Given the description of an element on the screen output the (x, y) to click on. 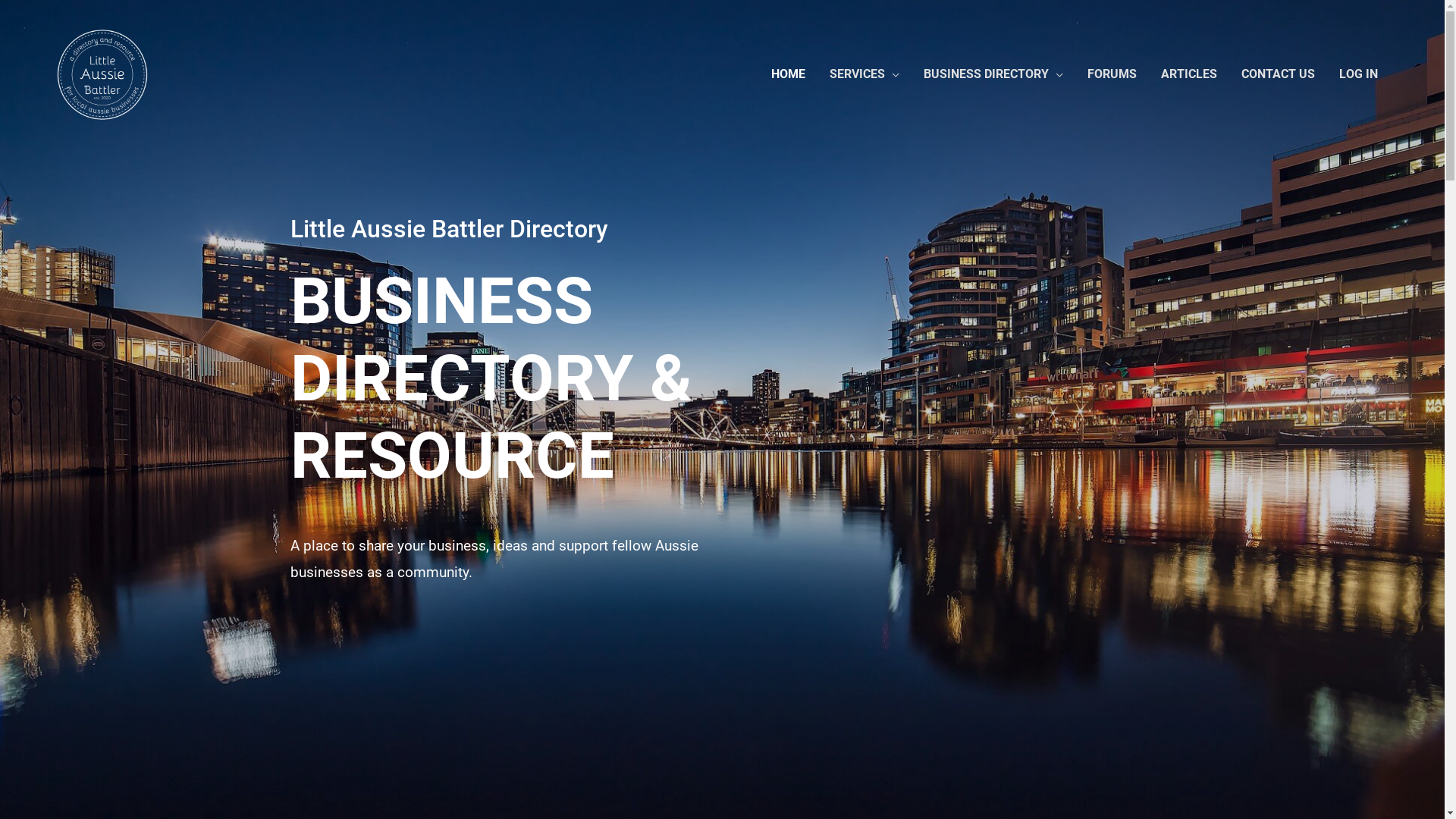
LOG IN Element type: text (1358, 74)
BUSINESS DIRECTORY Element type: text (993, 74)
FORUMS Element type: text (1111, 74)
SERVICES Element type: text (864, 74)
HOME Element type: text (787, 74)
CONTACT US Element type: text (1277, 74)
ARTICLES Element type: text (1188, 74)
